Given the description of an element on the screen output the (x, y) to click on. 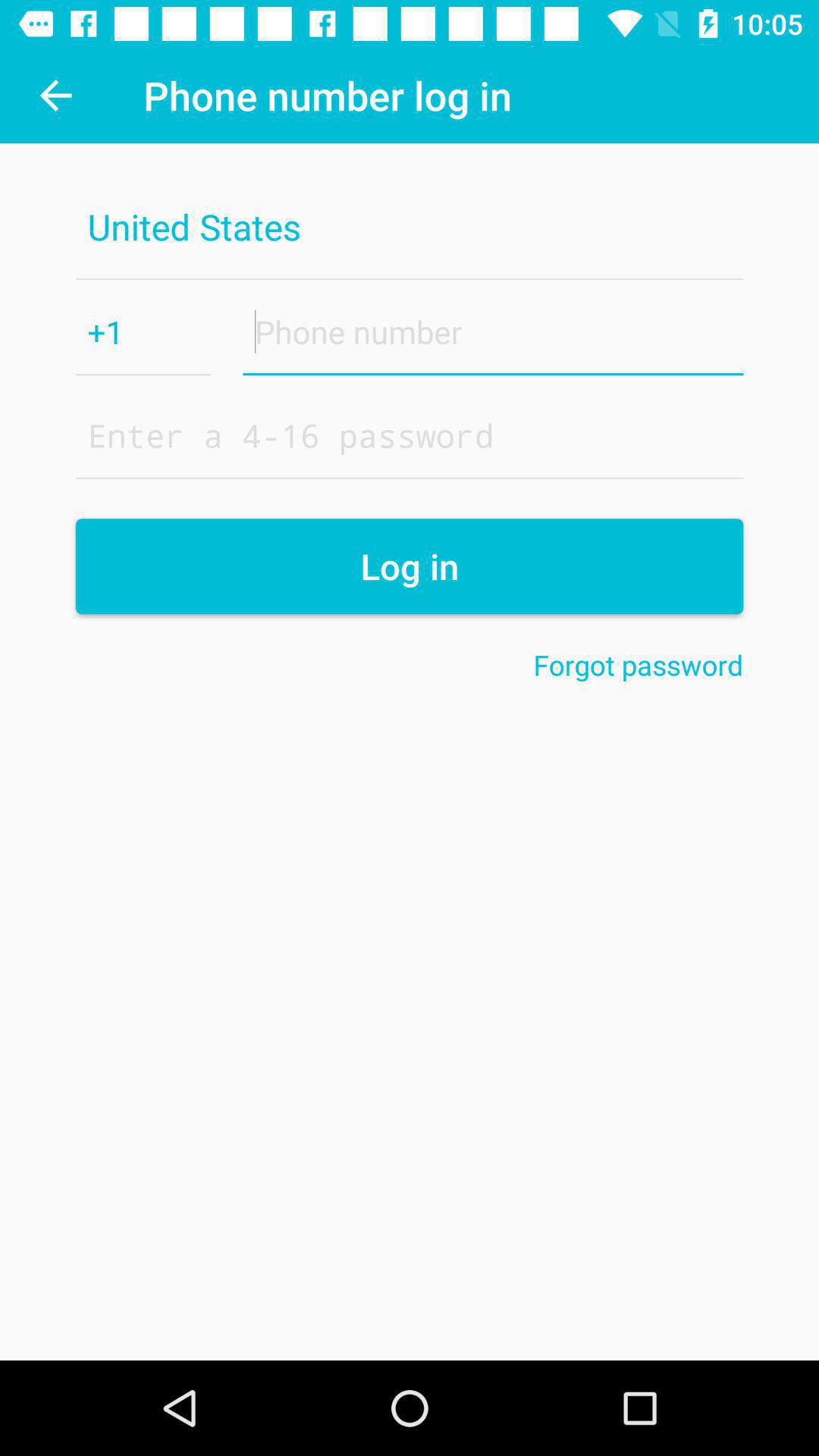
flip to +1 item (142, 331)
